Given the description of an element on the screen output the (x, y) to click on. 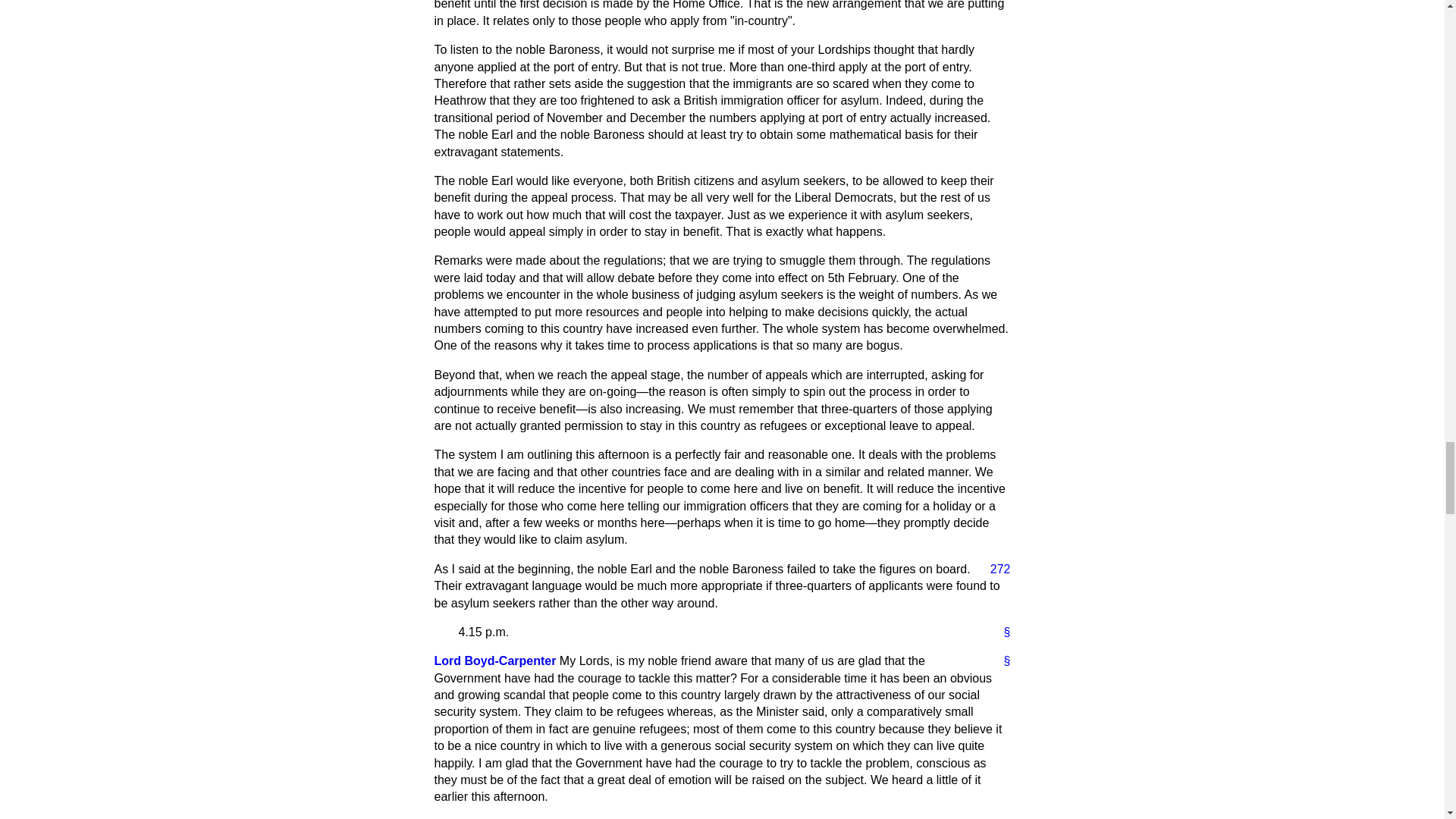
272 (994, 569)
